Given the description of an element on the screen output the (x, y) to click on. 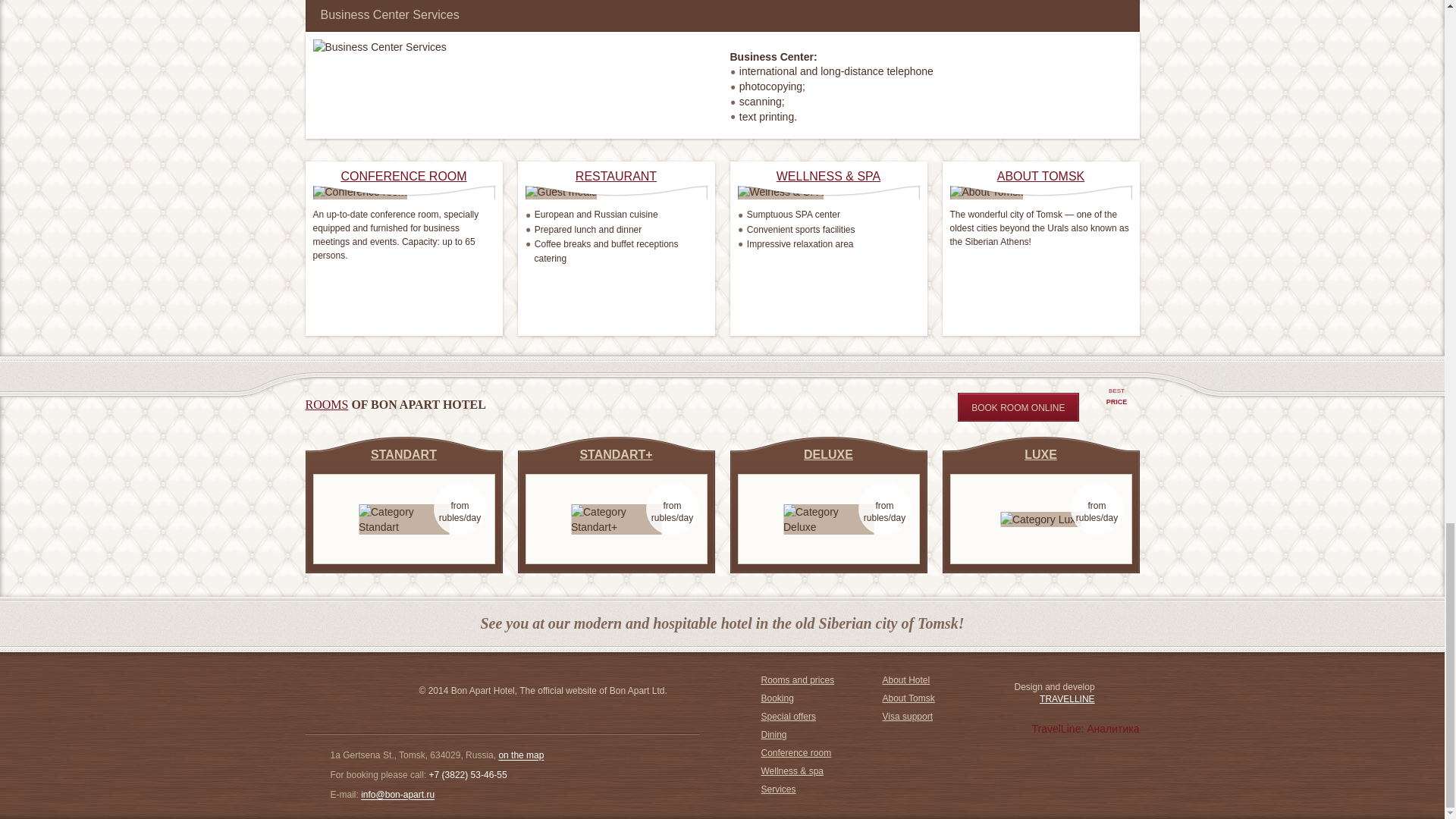
Book room online (1018, 407)
The hotel Bon Apart in the center of Tomsk (520, 756)
DELUXE (828, 454)
Rooms and prices (797, 679)
More information (325, 404)
Dining (774, 734)
ROOMS (1116, 401)
Services (325, 404)
LUXE (778, 788)
